Given the description of an element on the screen output the (x, y) to click on. 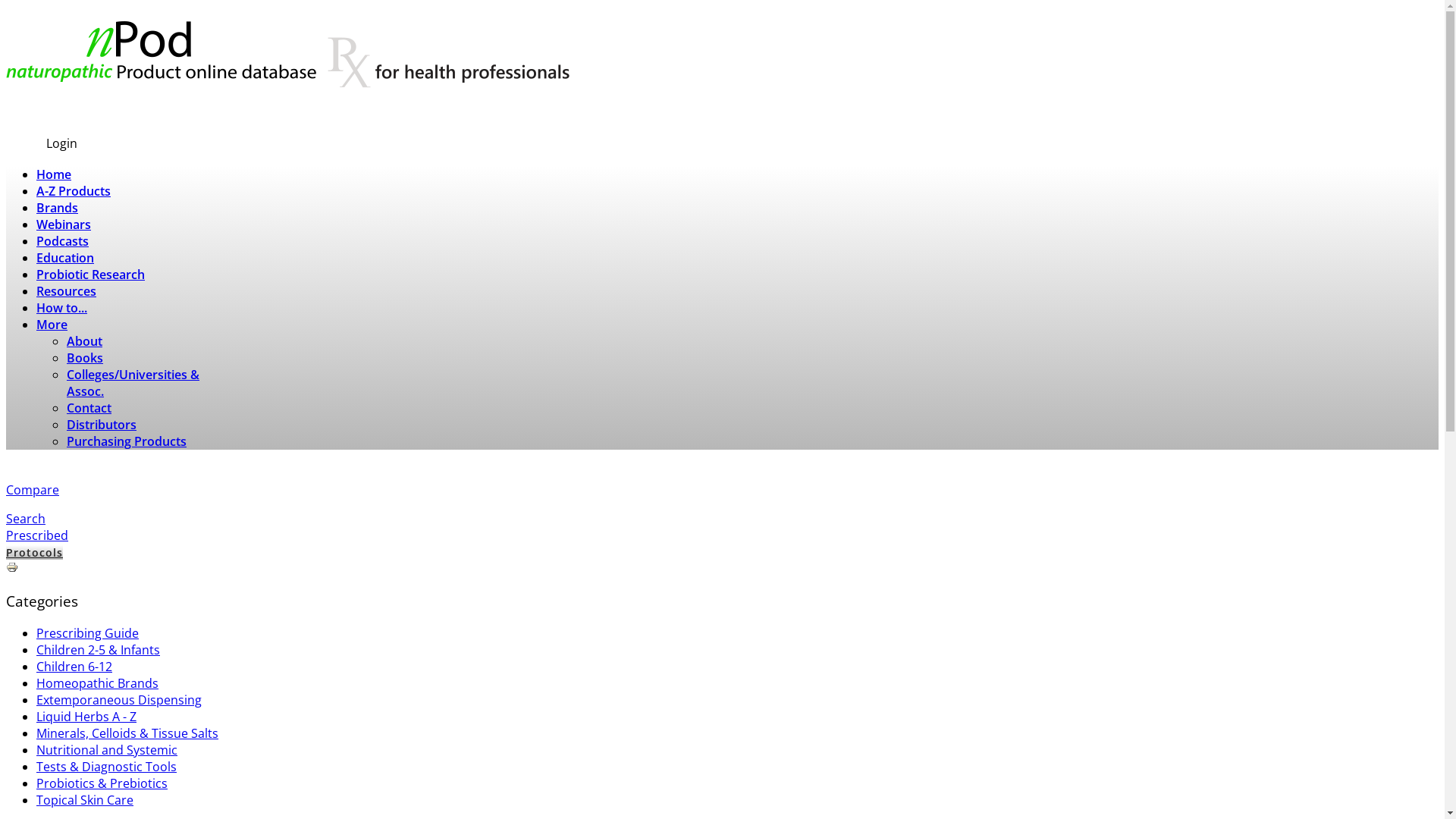
Search Element type: text (25, 518)
Compare Element type: text (32, 489)
Prescribing Guide Element type: text (87, 632)
Children 6-12 Element type: text (74, 666)
Colleges/Universities & Assoc. Element type: text (132, 382)
Probiotic Research Element type: text (90, 274)
Nutritional and Systemic Element type: text (106, 749)
About Element type: text (84, 340)
Topical Skin Care Element type: text (84, 799)
Home Element type: text (53, 174)
A-Z Products Element type: text (73, 190)
Login Element type: text (61, 142)
Contact Element type: text (88, 407)
Brands Element type: text (57, 207)
Education Element type: text (65, 257)
Liquid Herbs A - Z Element type: text (86, 716)
More Element type: text (51, 324)
Resources Element type: text (66, 290)
Probiotics & Prebiotics Element type: text (101, 783)
How to... Element type: text (61, 307)
Distributors Element type: text (101, 424)
Children 2-5 & Infants Element type: text (98, 649)
Purchasing Products Element type: text (126, 441)
Podcasts Element type: text (62, 240)
Subscribe Element type: text (34, 111)
Tests & Diagnostic Tools Element type: text (106, 766)
Books Element type: text (84, 357)
Extemporaneous Dispensing Element type: text (118, 699)
Homeopathic Brands Element type: text (97, 682)
Webinars Element type: text (63, 224)
Minerals, Celloids & Tissue Salts Element type: text (127, 732)
Protocols Element type: text (34, 552)
Prescribed Element type: text (37, 535)
